Given the description of an element on the screen output the (x, y) to click on. 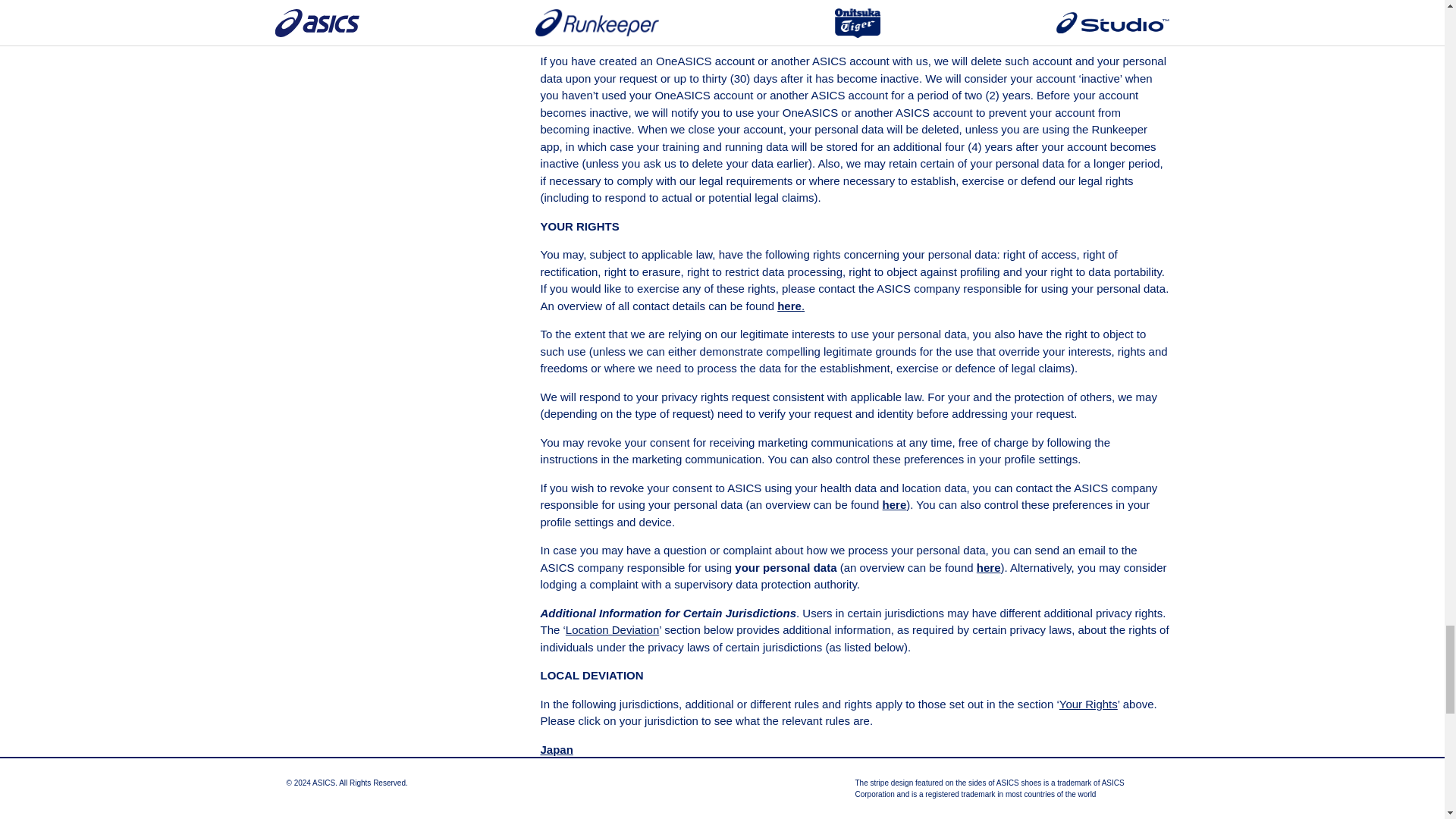
here (789, 305)
here (894, 504)
Canada (560, 805)
US (548, 777)
here (988, 567)
Japan (556, 748)
